Given the description of an element on the screen output the (x, y) to click on. 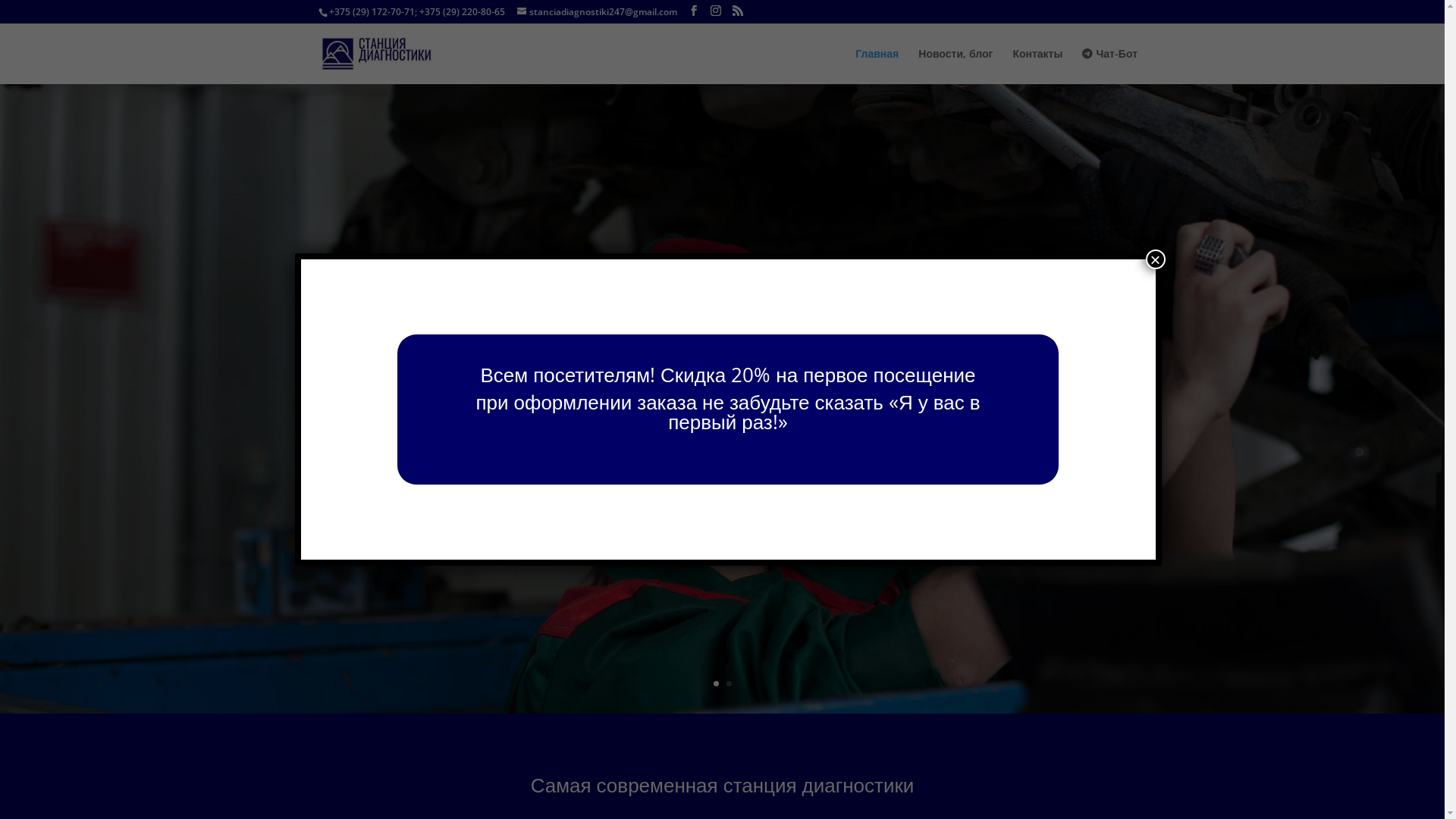
stanciadiagnostiki247@gmail.com Element type: text (597, 11)
2 Element type: text (728, 683)
1 Element type: text (715, 683)
